Given the description of an element on the screen output the (x, y) to click on. 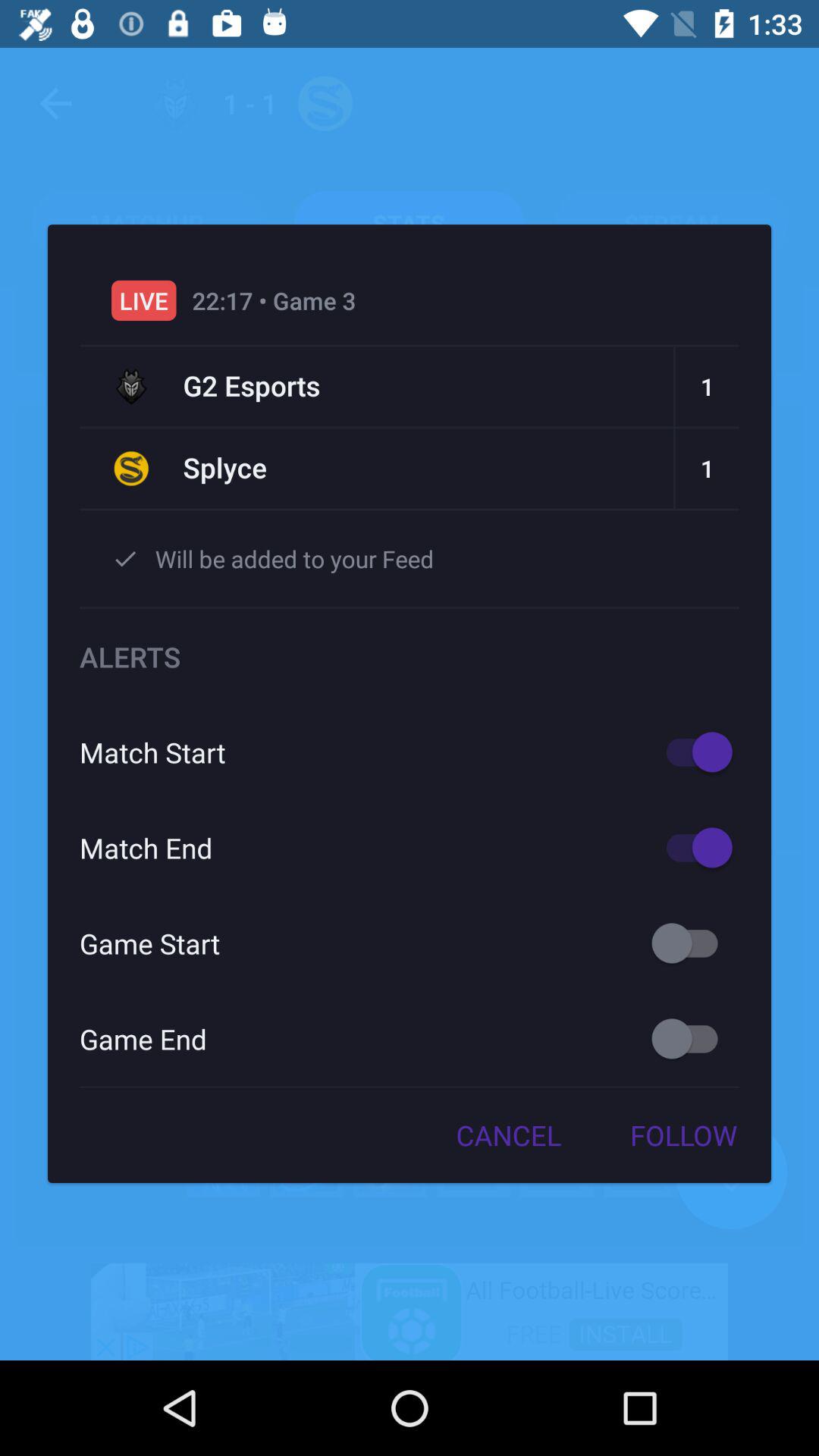
off button (691, 1038)
